Given the description of an element on the screen output the (x, y) to click on. 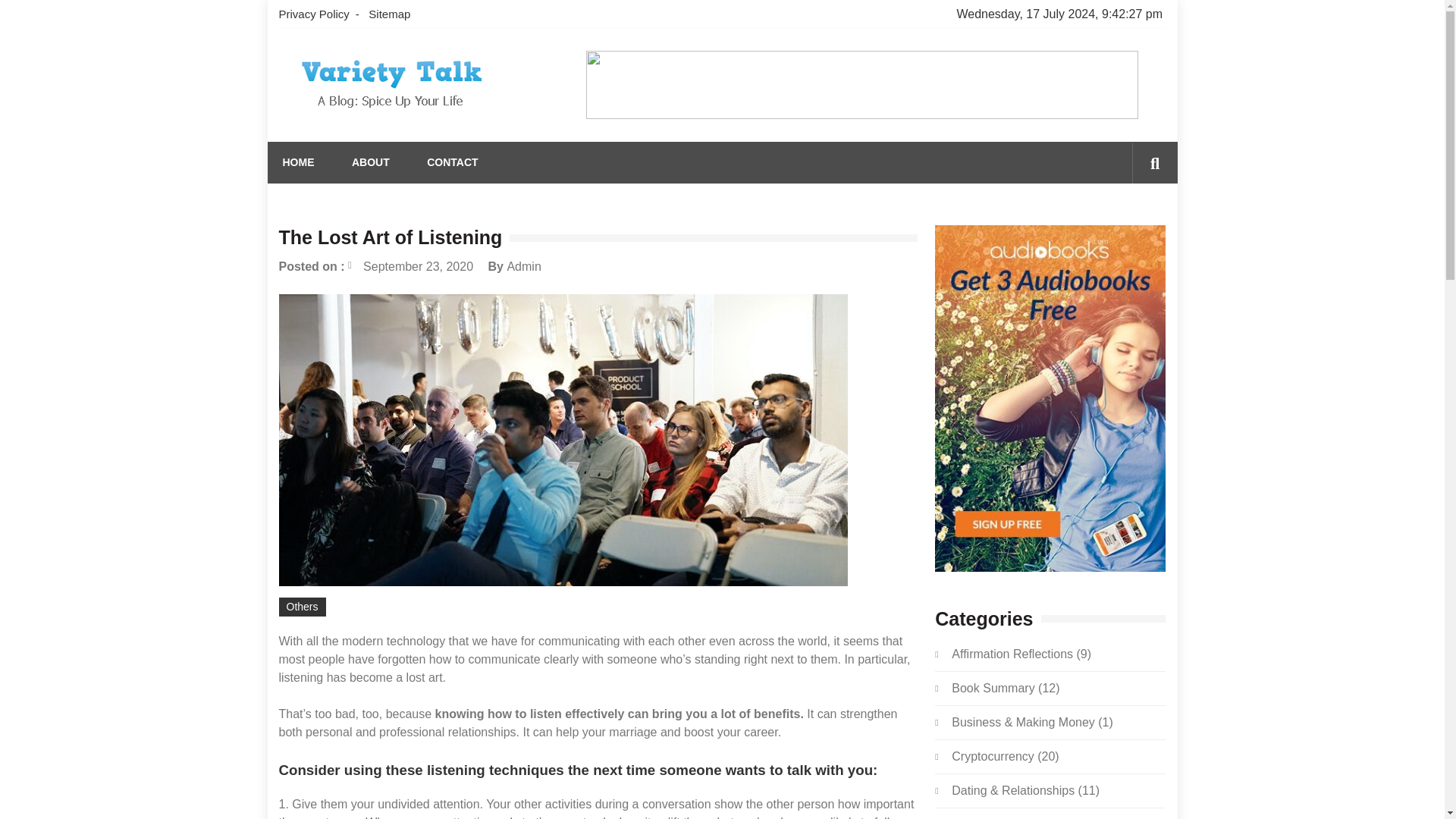
Posts by Admin (523, 266)
Others (302, 606)
Book Summary (992, 687)
Sitemap (389, 13)
Search (1130, 227)
CONTACT (451, 162)
Dental Health (988, 818)
Cryptocurrency (992, 756)
Affirmation Reflections (1012, 653)
September 23, 2020 (410, 266)
ABOUT (371, 162)
Admin (523, 266)
Variety Talk (352, 131)
Privacy Policy (317, 13)
